Given the description of an element on the screen output the (x, y) to click on. 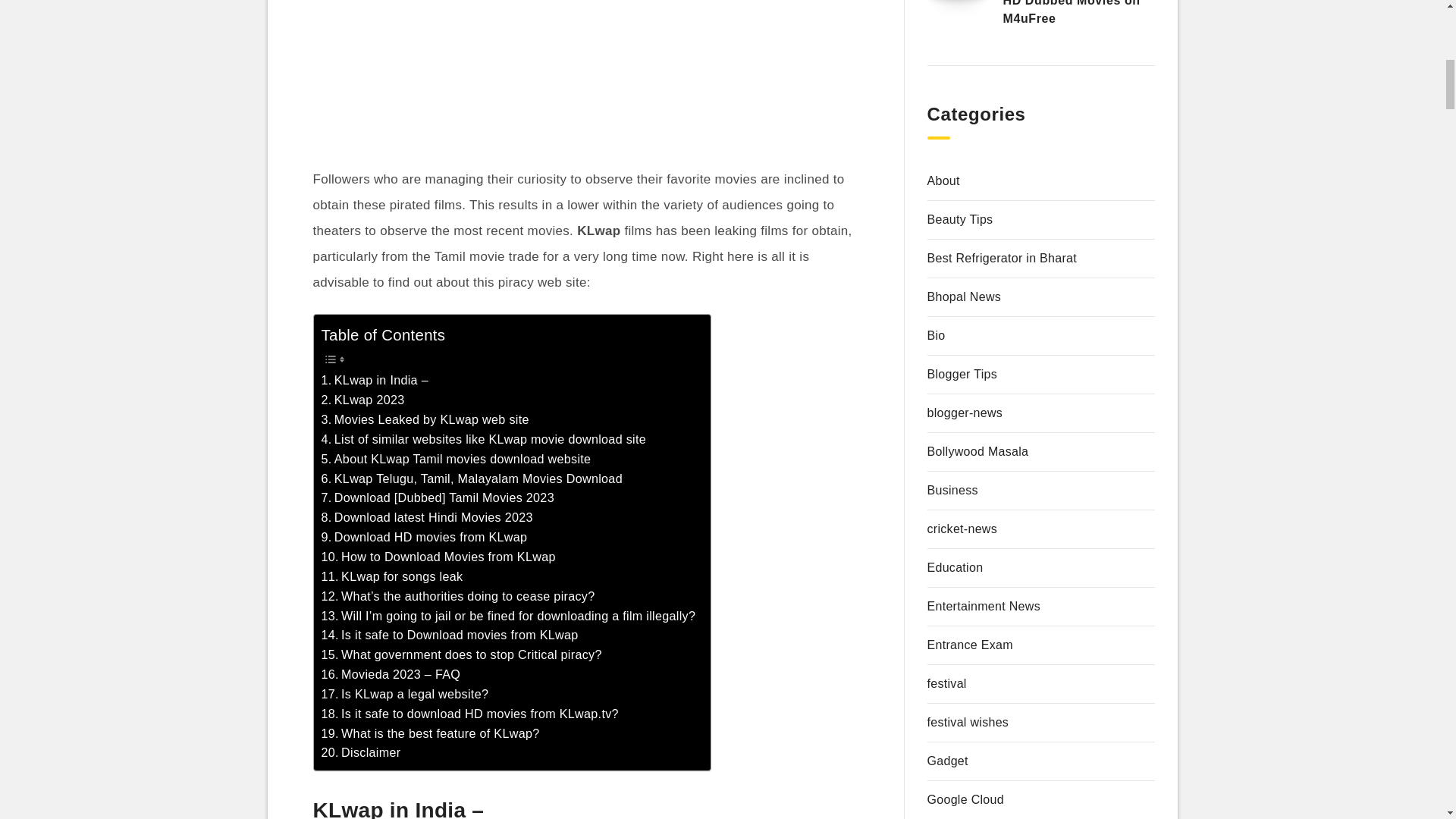
What government does to stop Critical piracy? (461, 655)
About KLwap Tamil movies download website (456, 459)
Download latest Hindi Movies 2023 (426, 517)
KLwap for songs leak (392, 577)
Is it safe to download HD movies from KLwap.tv? (469, 713)
Download HD movies from KLwap (424, 537)
KLwap Telugu, Tamil, Malayalam Movies Download (472, 478)
Movies Leaked by KLwap web site (425, 419)
KLwap for songs leak (392, 577)
KLwap Telugu, Tamil, Malayalam Movies Download (472, 478)
Download HD movies from KLwap (424, 537)
KLwap 2023 (362, 400)
How to Download Movies from KLwap (438, 557)
KLwap 2023 (362, 400)
Advertisement (585, 83)
